Given the description of an element on the screen output the (x, y) to click on. 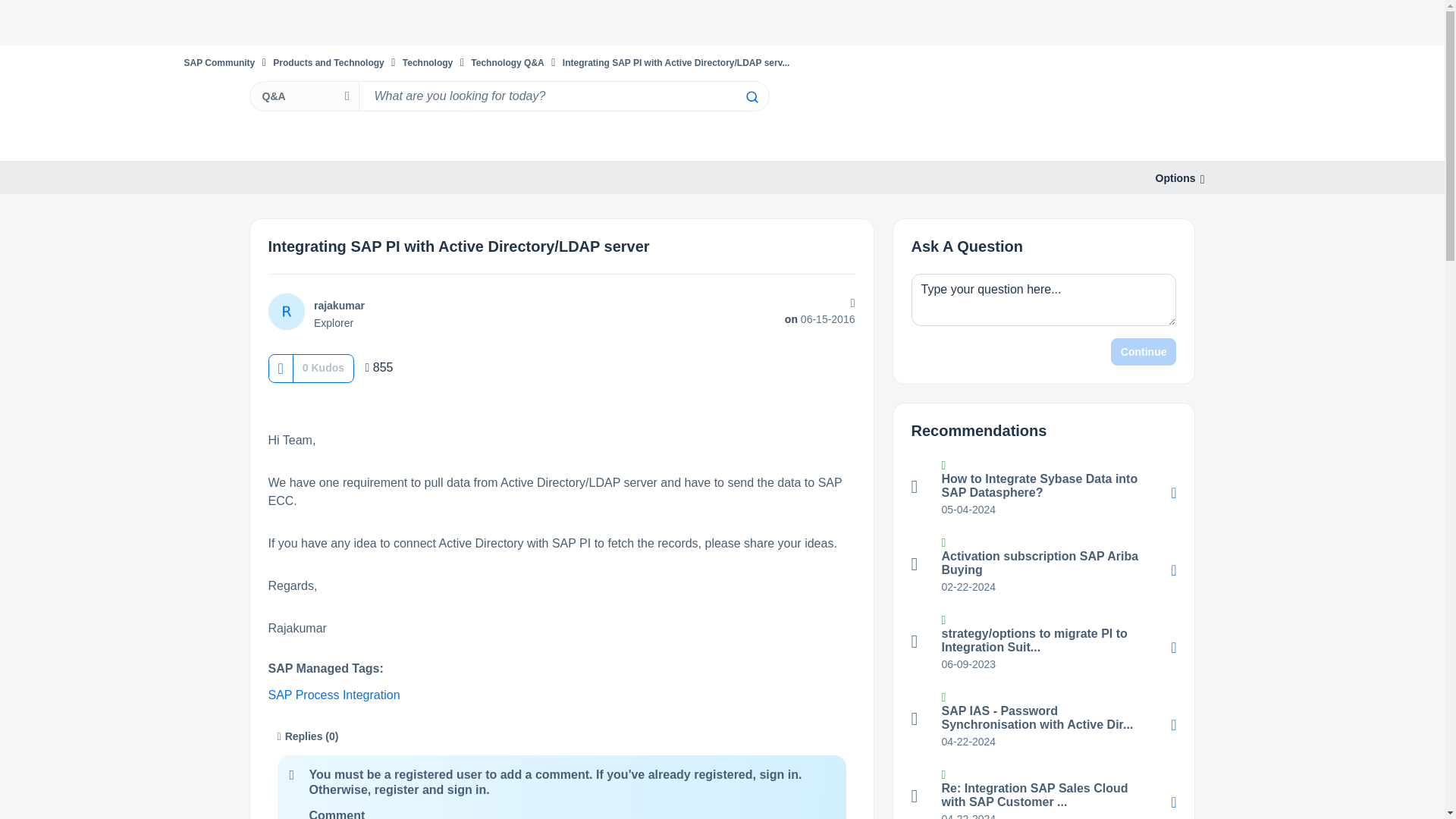
Click here to give kudos to this post. (279, 367)
Search (750, 96)
Search (750, 96)
Show option menu (851, 302)
Search (563, 96)
Search (750, 96)
Search Granularity (303, 96)
SAP Community (218, 62)
rajakumar (339, 305)
SAP Process Integration (333, 694)
Options (1176, 178)
Show option menu (1176, 178)
Continue (1143, 351)
Comment (336, 814)
Products and Technology (328, 62)
